Given the description of an element on the screen output the (x, y) to click on. 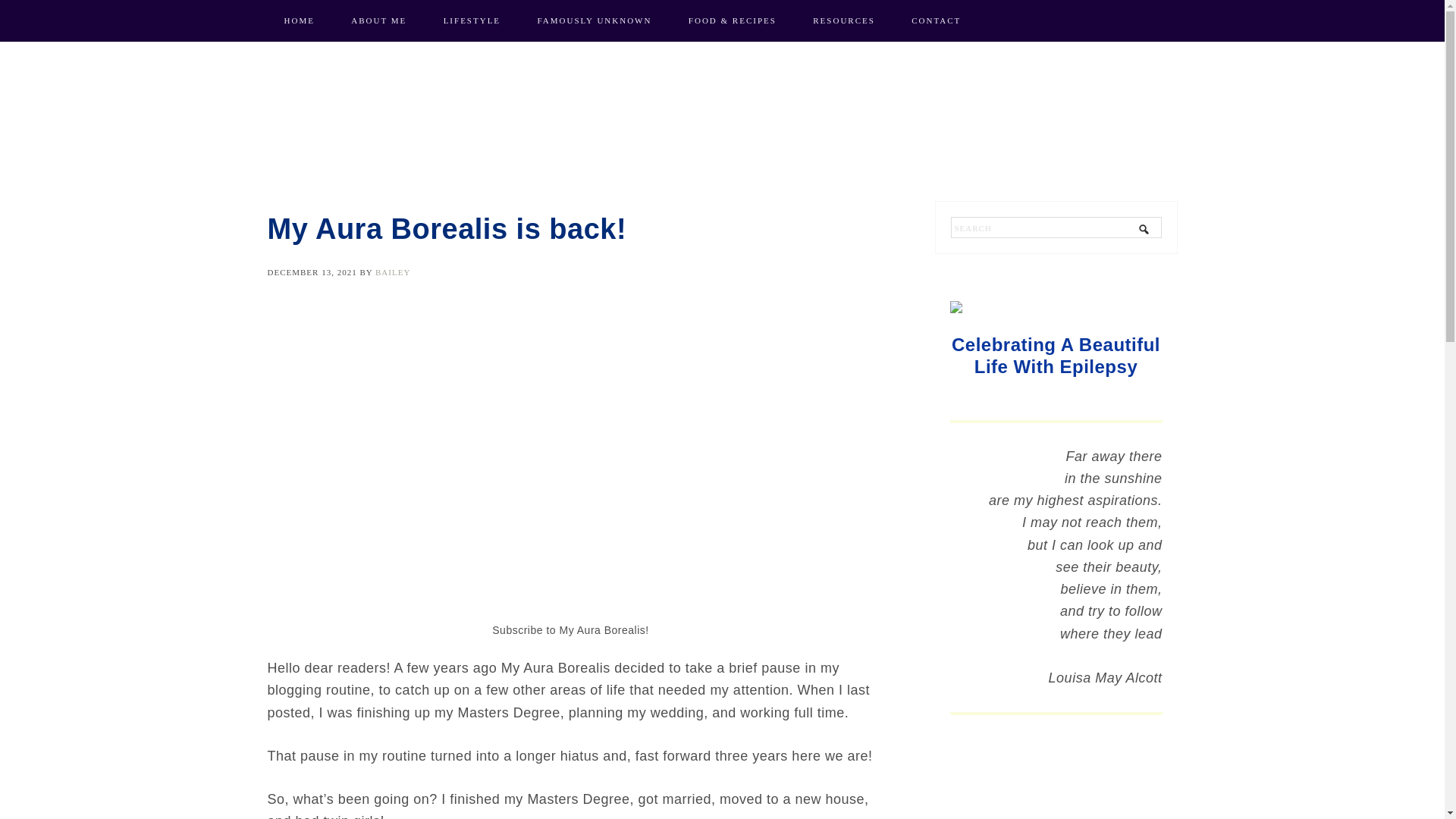
HOME (298, 20)
RESOURCES (843, 20)
LIFESTYLE (471, 20)
FAMOUSLY UNKNOWN (593, 20)
My Aura Borealis (721, 121)
BAILEY (392, 271)
CONTACT (935, 20)
ABOUT ME (378, 20)
